Given the description of an element on the screen output the (x, y) to click on. 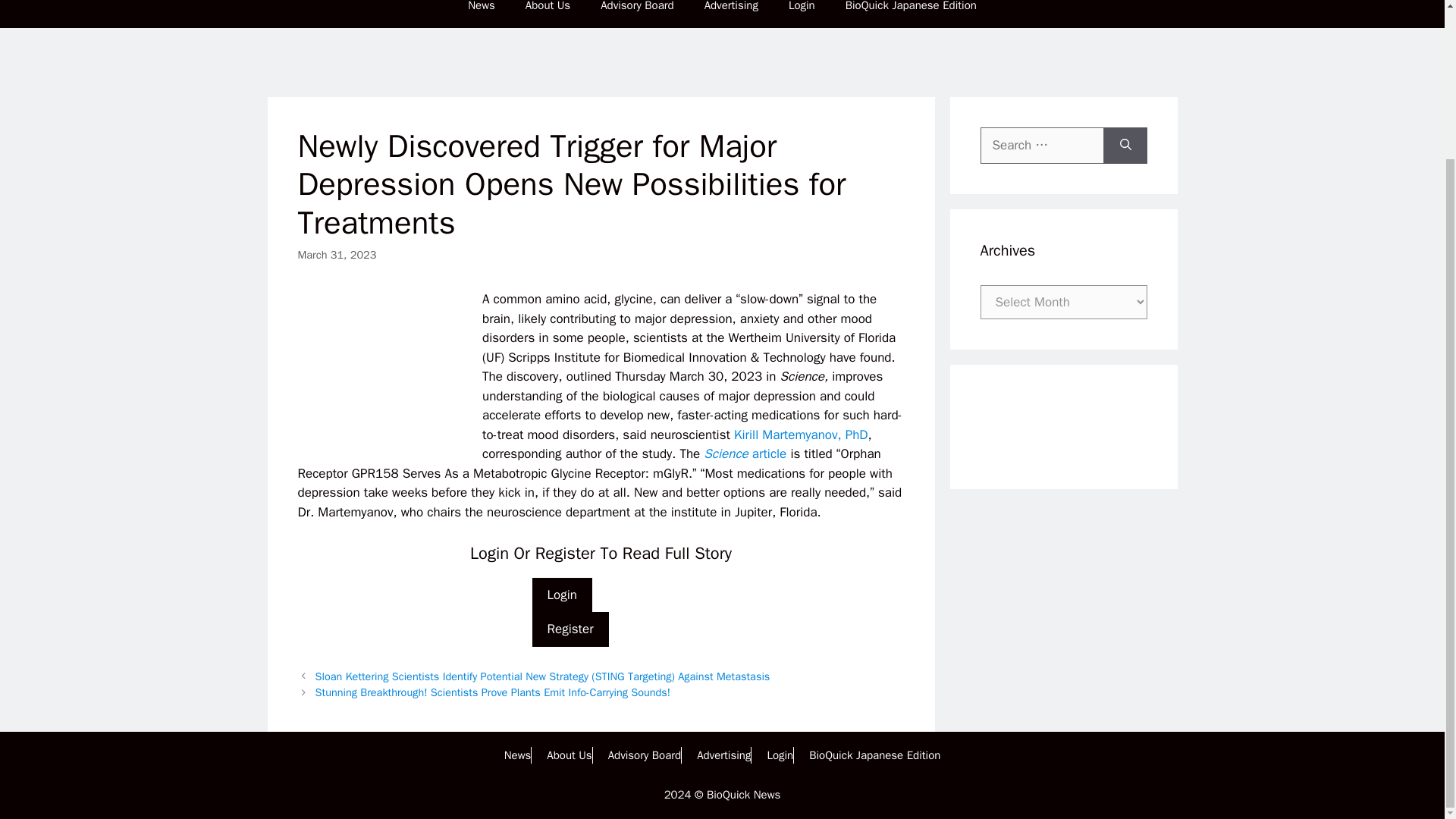
Advertising (724, 755)
Kirill Martemyanov, PhD (800, 434)
News (481, 13)
Advisory Board (644, 755)
Search for: (1041, 145)
Advisory Board (636, 13)
Login (562, 595)
Register (570, 629)
Science (727, 453)
About Us (569, 755)
